Given the description of an element on the screen output the (x, y) to click on. 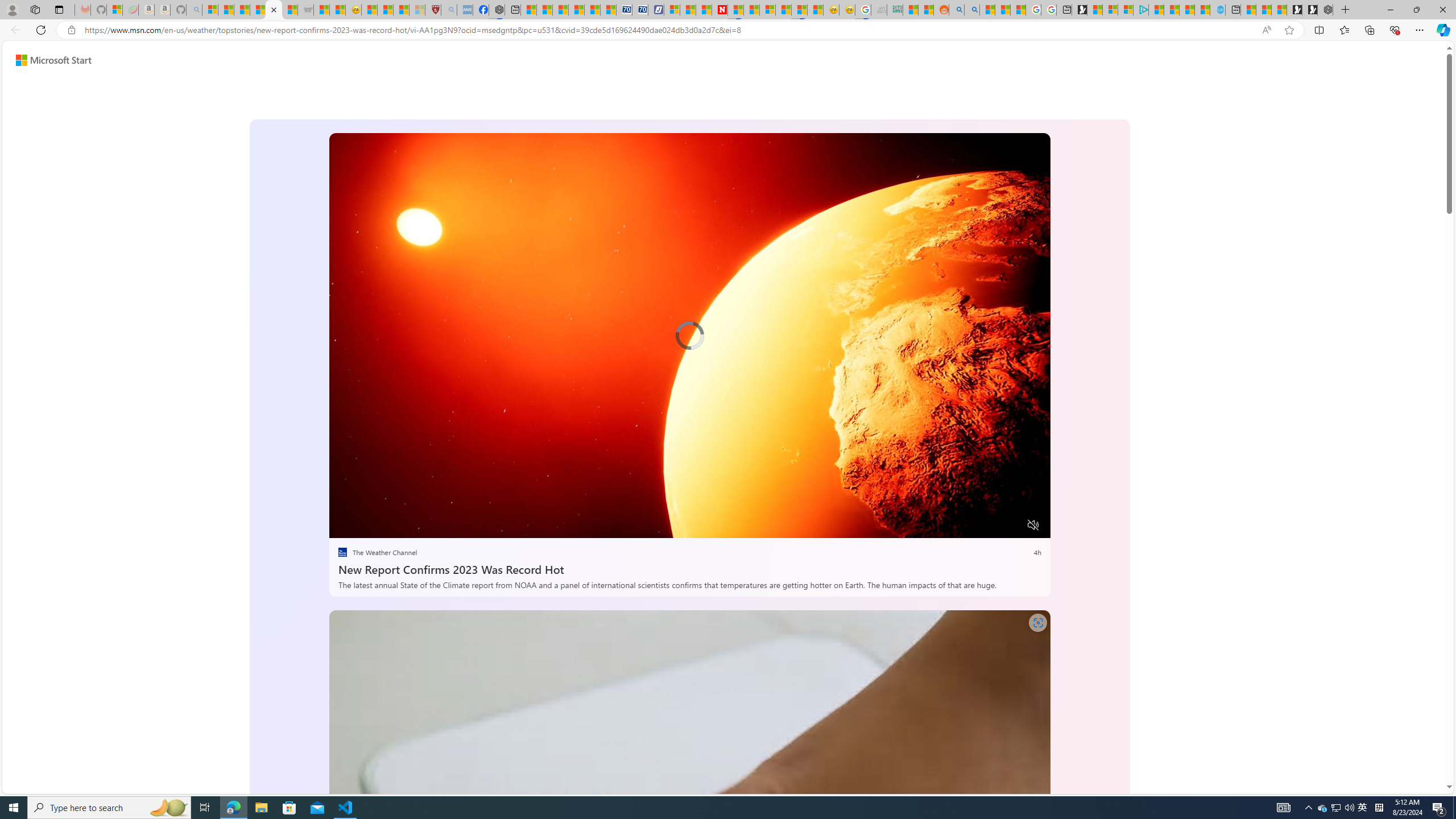
Utah sues federal government - Search (971, 9)
14 Common Myths Debunked By Scientific Facts (751, 9)
Home | Sky Blue Bikes - Sky Blue Bikes (1217, 9)
Captions (988, 525)
Pause (346, 525)
Seek Forward (391, 525)
Unmute (1033, 524)
